Given the description of an element on the screen output the (x, y) to click on. 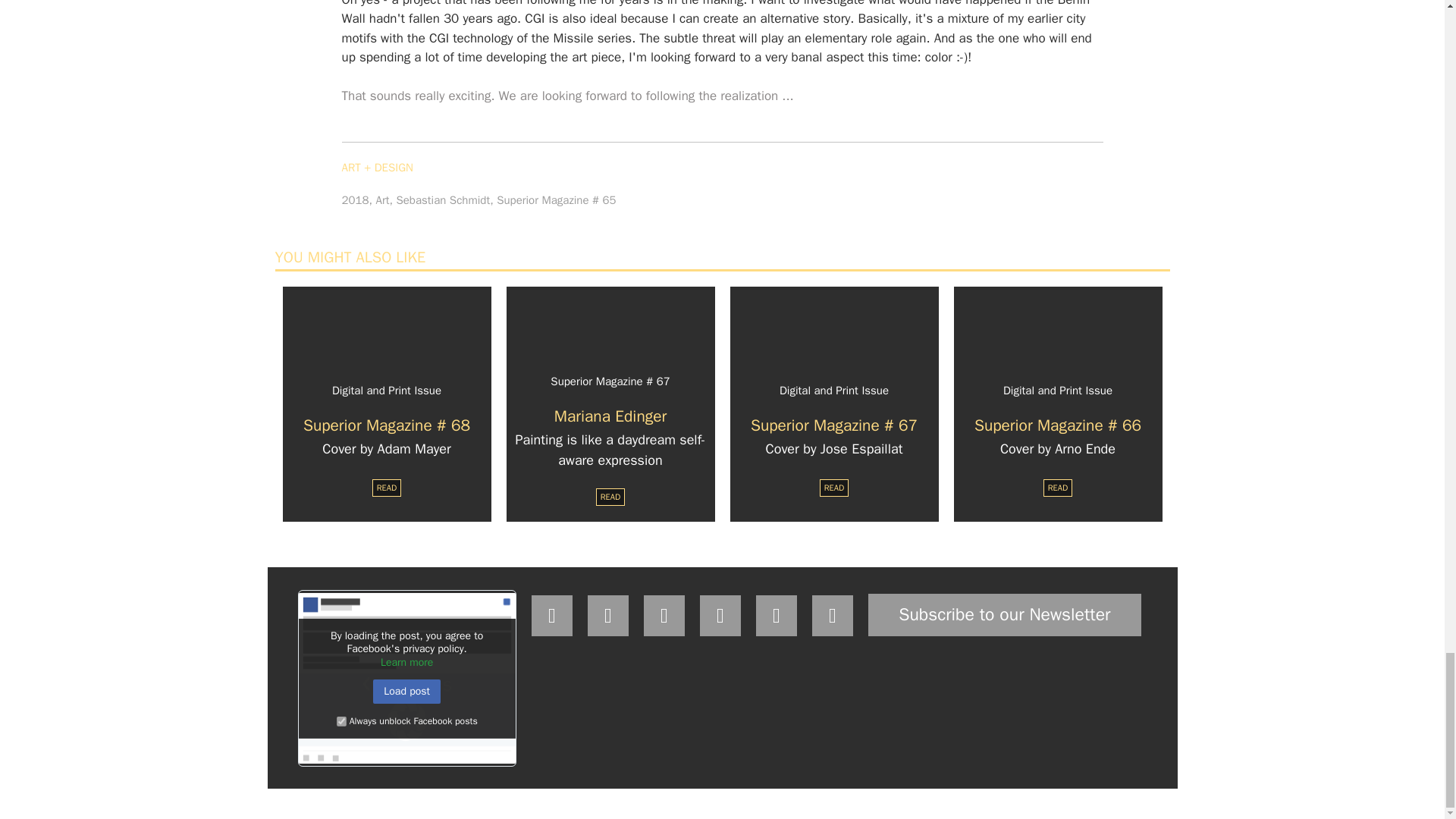
1 (341, 721)
Learn more (406, 662)
Mariana Edinger (609, 416)
2018 (354, 200)
Load post (406, 691)
Subscribe to our Newsletter (1004, 614)
Sebastian Schmidt (442, 200)
